Given the description of an element on the screen output the (x, y) to click on. 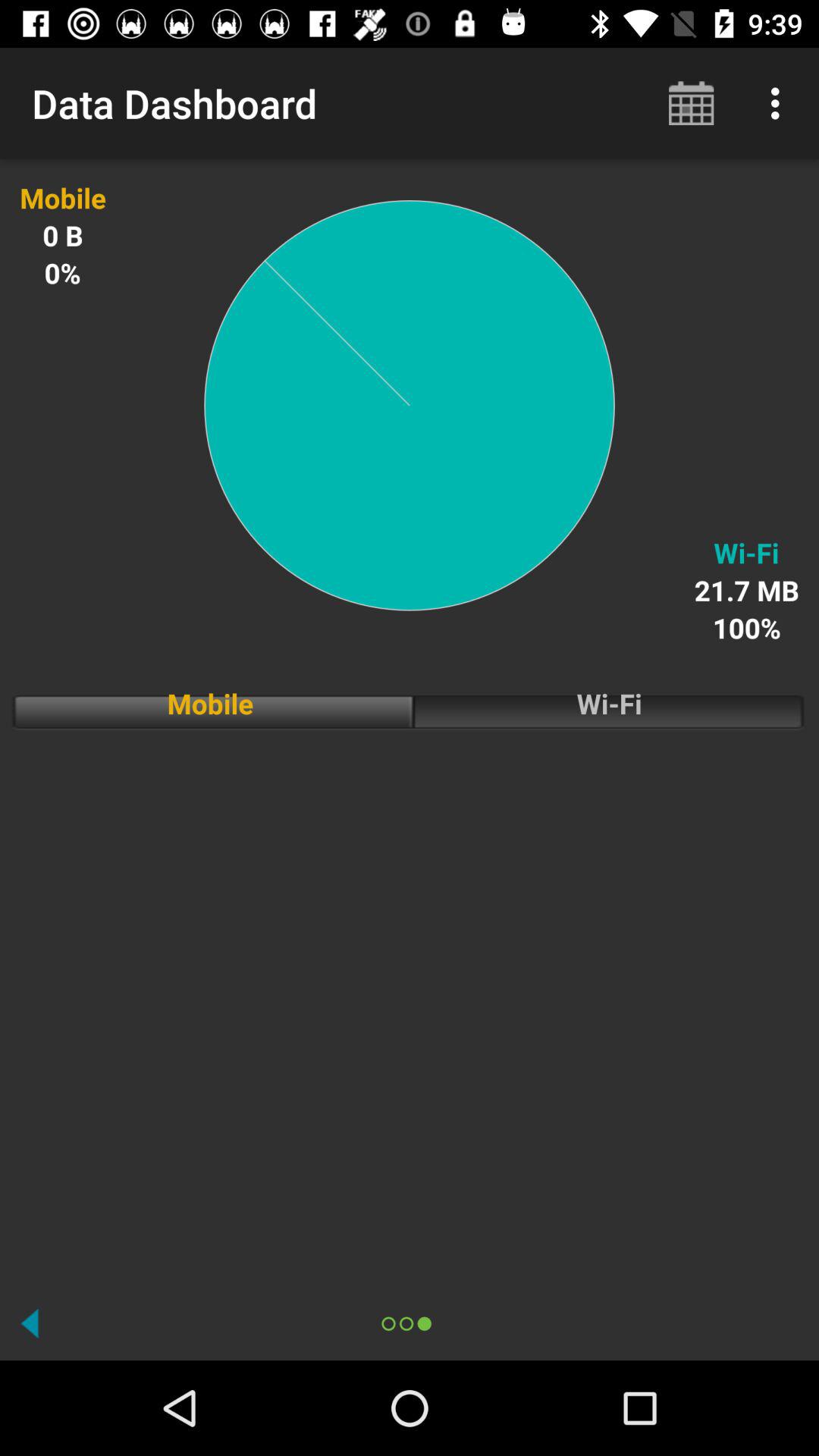
go back (29, 1323)
